Given the description of an element on the screen output the (x, y) to click on. 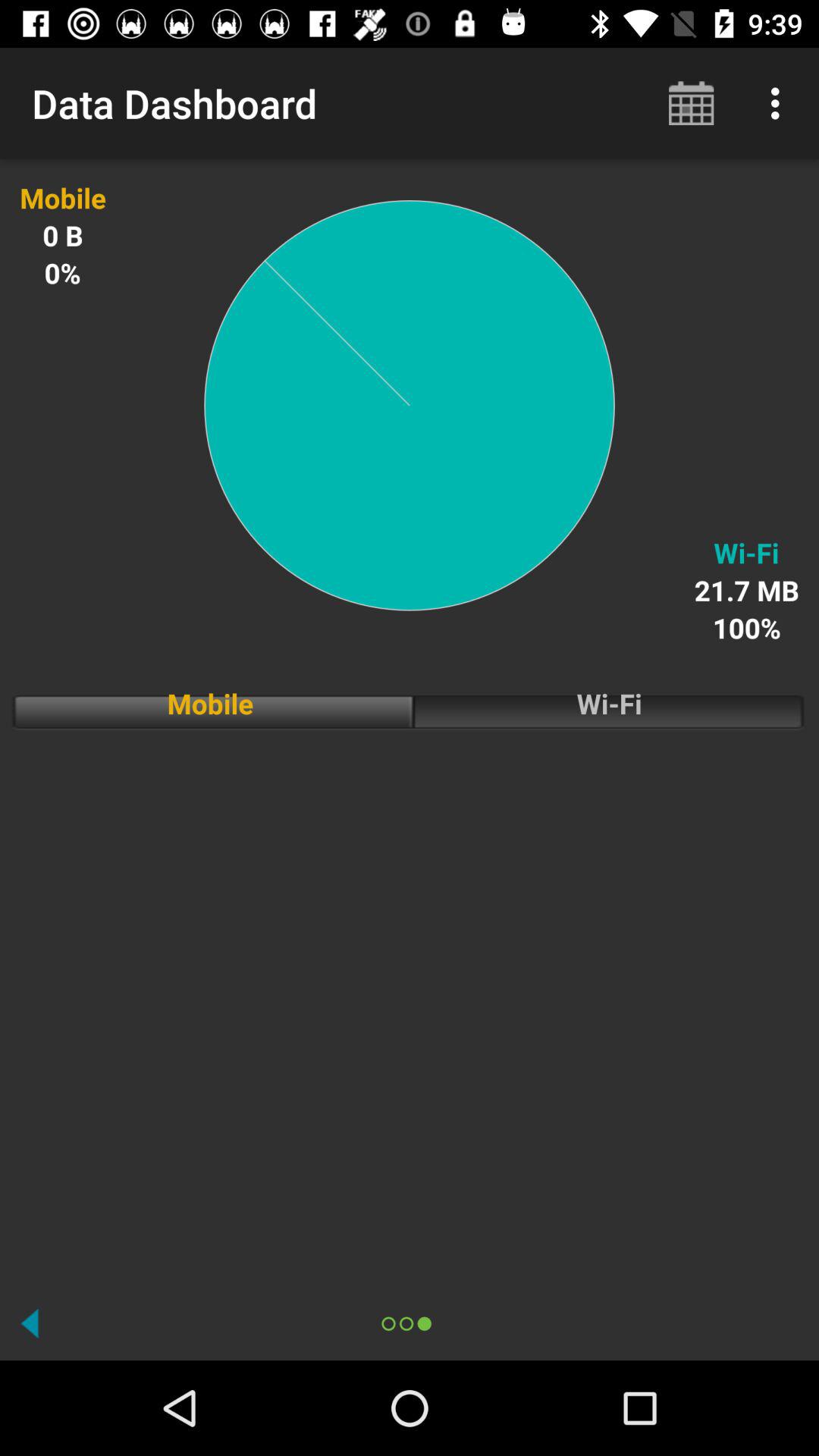
go back (29, 1323)
